Given the description of an element on the screen output the (x, y) to click on. 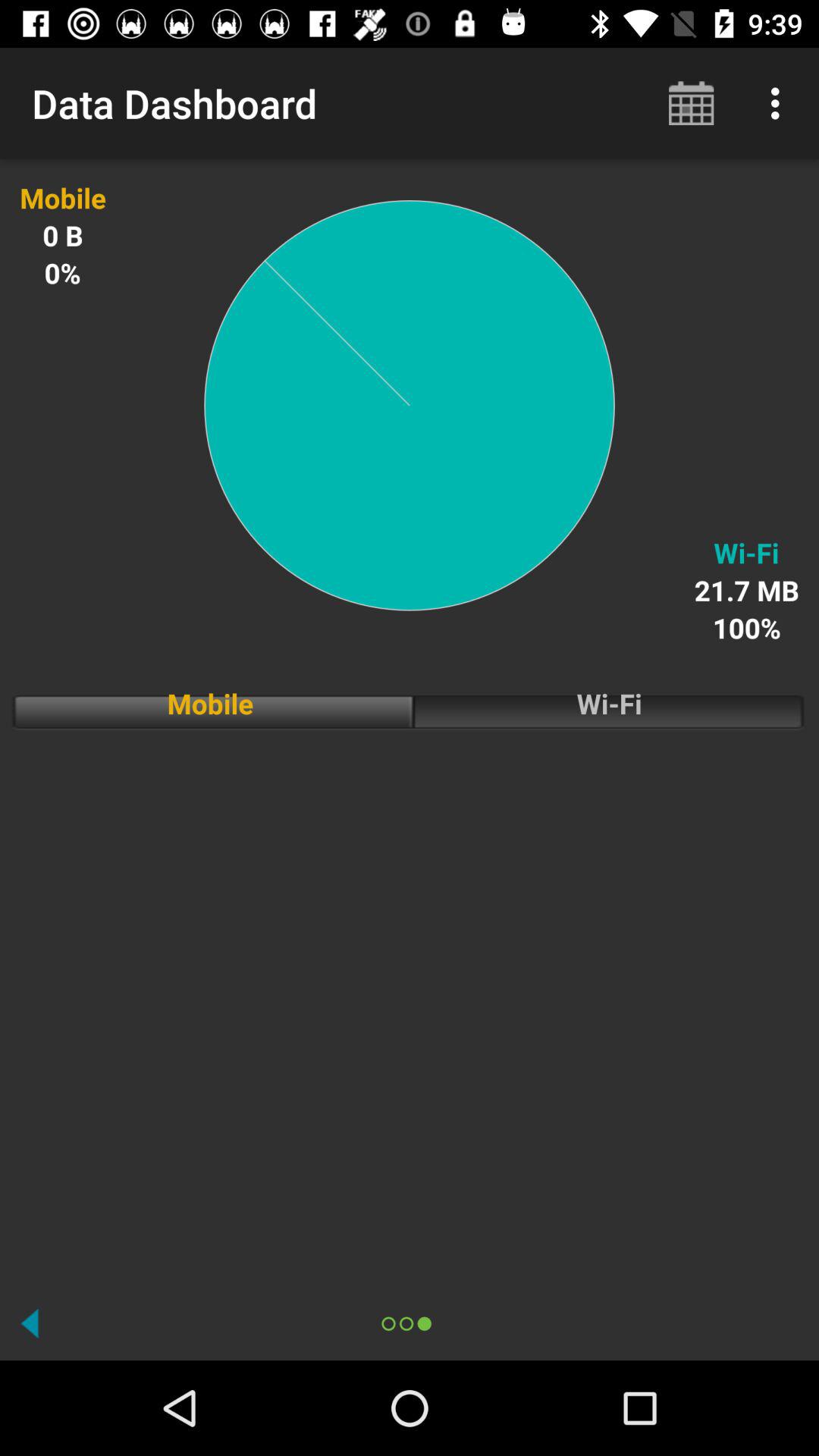
go back (29, 1323)
